Given the description of an element on the screen output the (x, y) to click on. 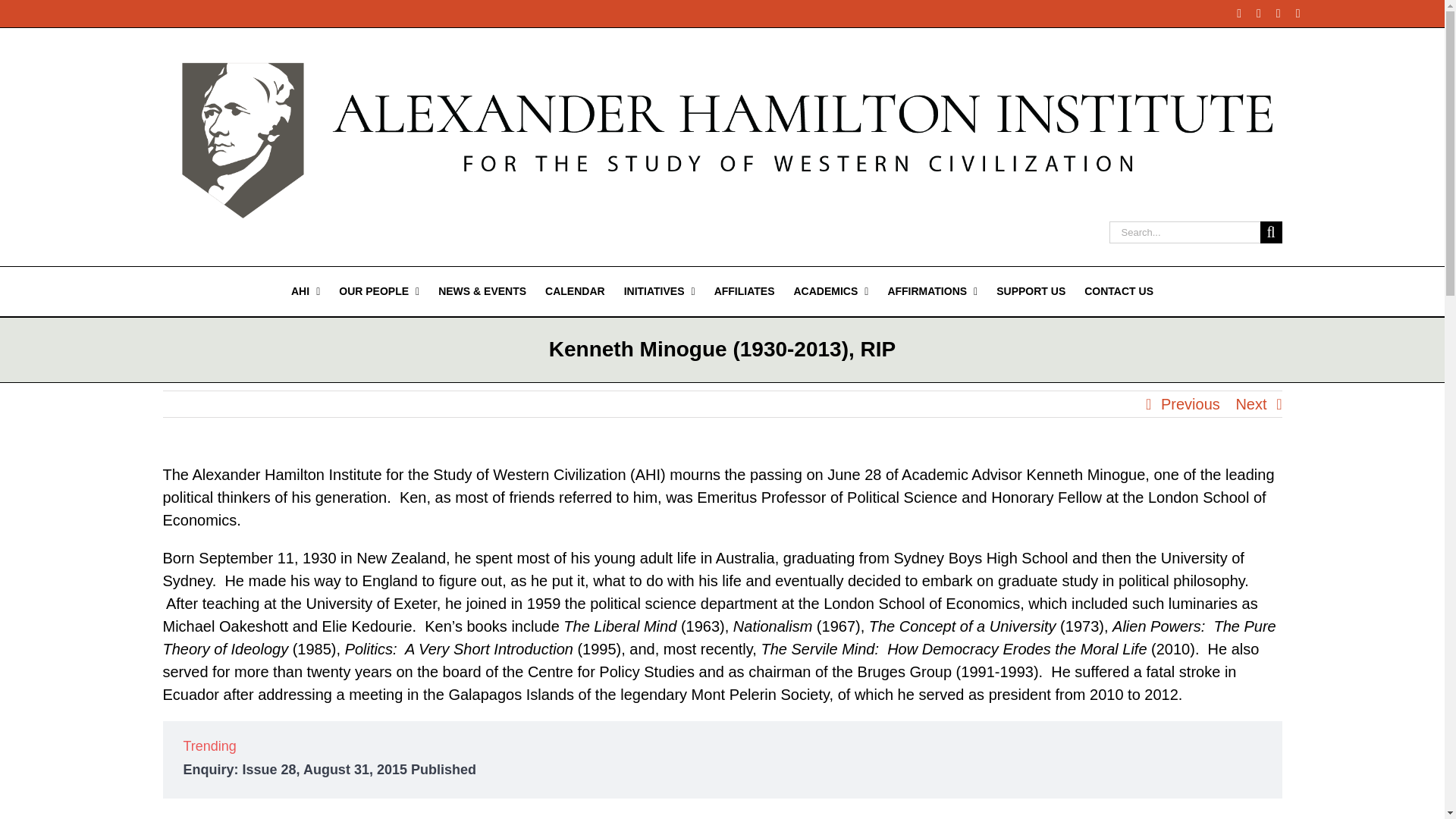
CALENDAR (574, 291)
INITIATIVES (659, 291)
OUR PEOPLE (379, 291)
